Given the description of an element on the screen output the (x, y) to click on. 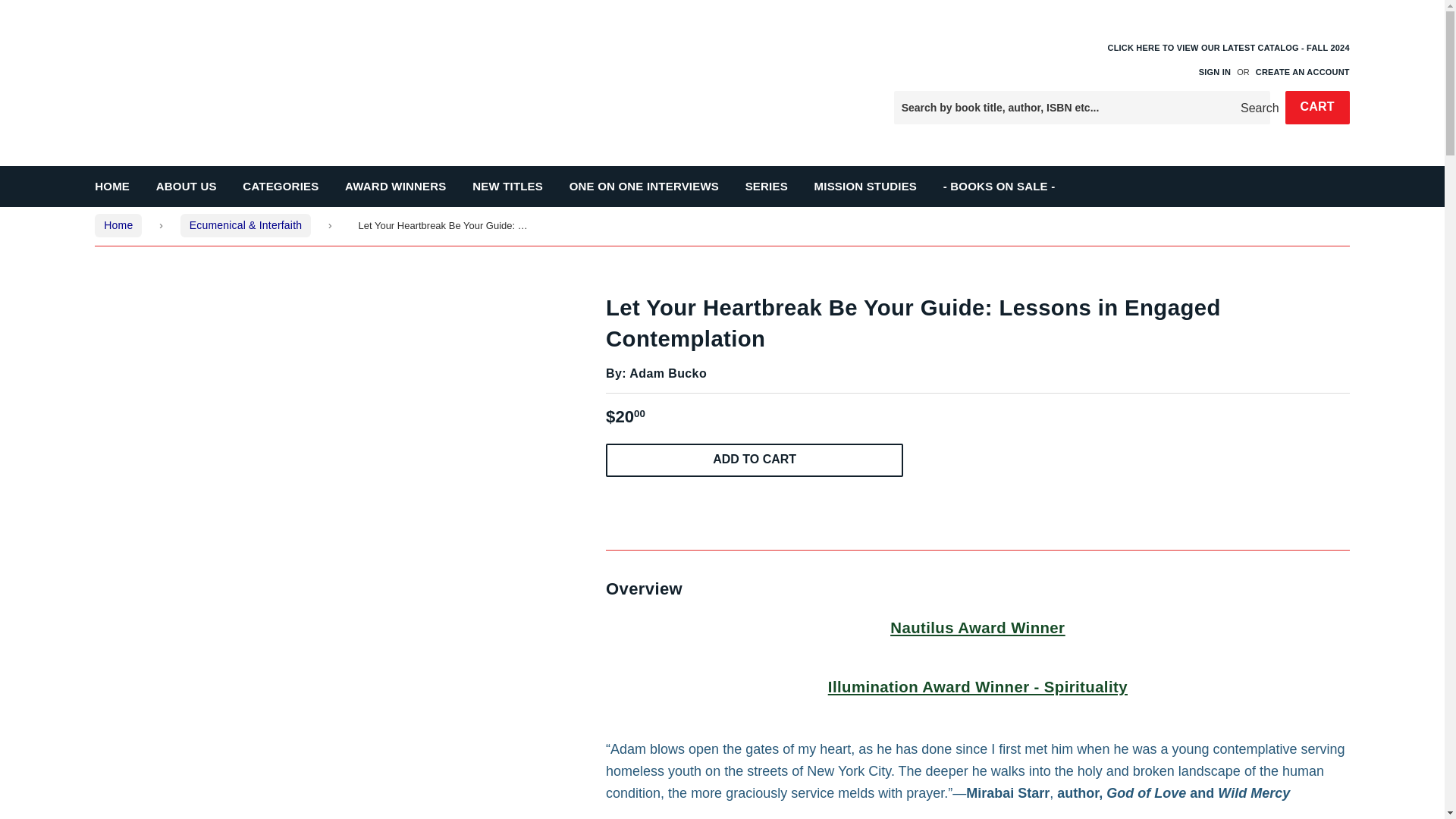
Search (1252, 108)
CART (1316, 107)
CREATE AN ACCOUNT (1302, 71)
SIGN IN (1214, 71)
Back to the frontpage (117, 224)
CLICK HERE TO VIEW OUR LATEST CATALOG - FALL 2024 (1227, 58)
